Given the description of an element on the screen output the (x, y) to click on. 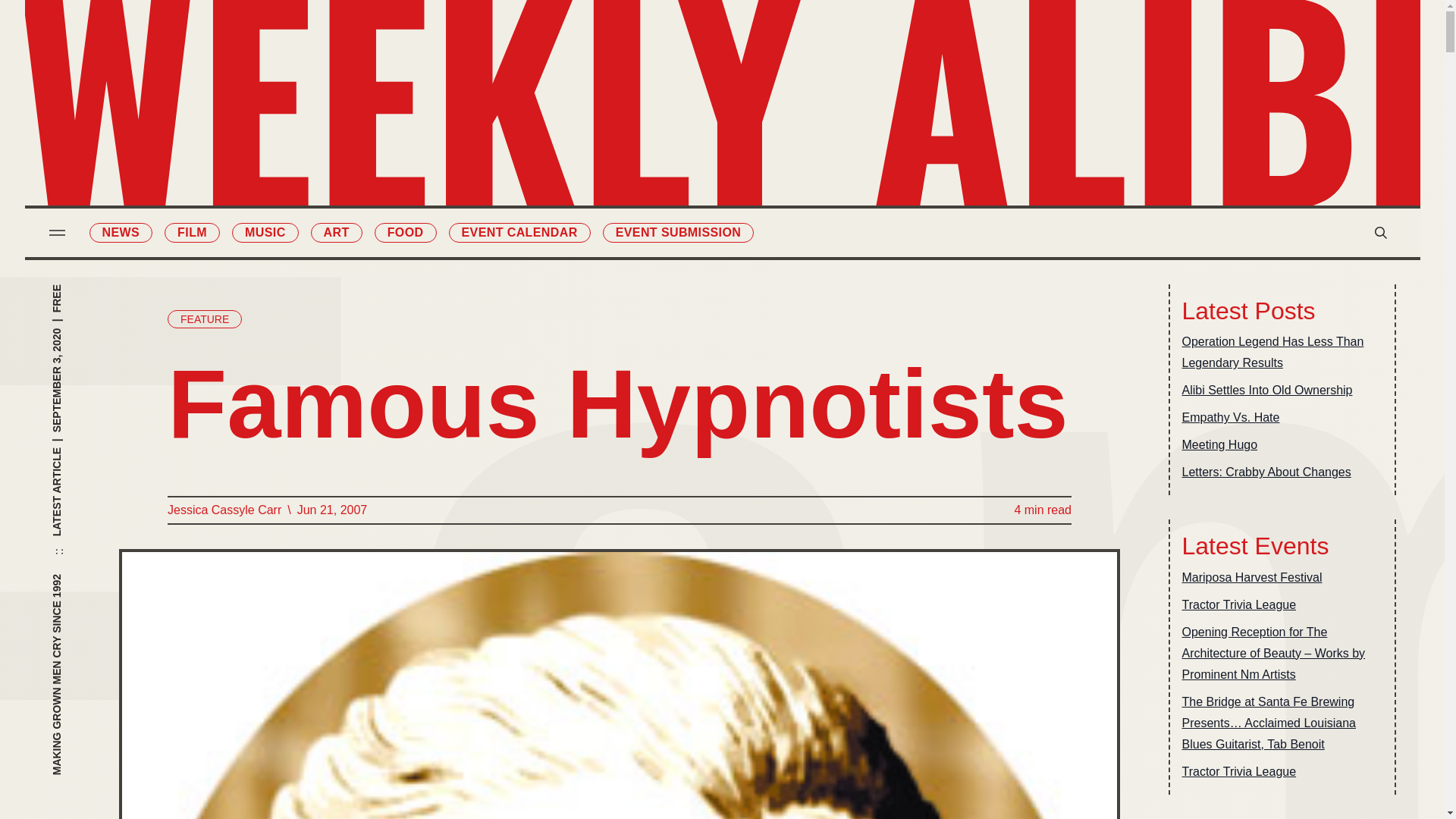
MUSIC (264, 232)
EVENT CALENDAR (519, 232)
FOOD (405, 232)
Jessica Cassyle Carr (224, 509)
FEATURE (204, 319)
EVENT SUBMISSION (678, 232)
FILM (191, 232)
NEWS (120, 232)
ART (336, 232)
